Given the description of an element on the screen output the (x, y) to click on. 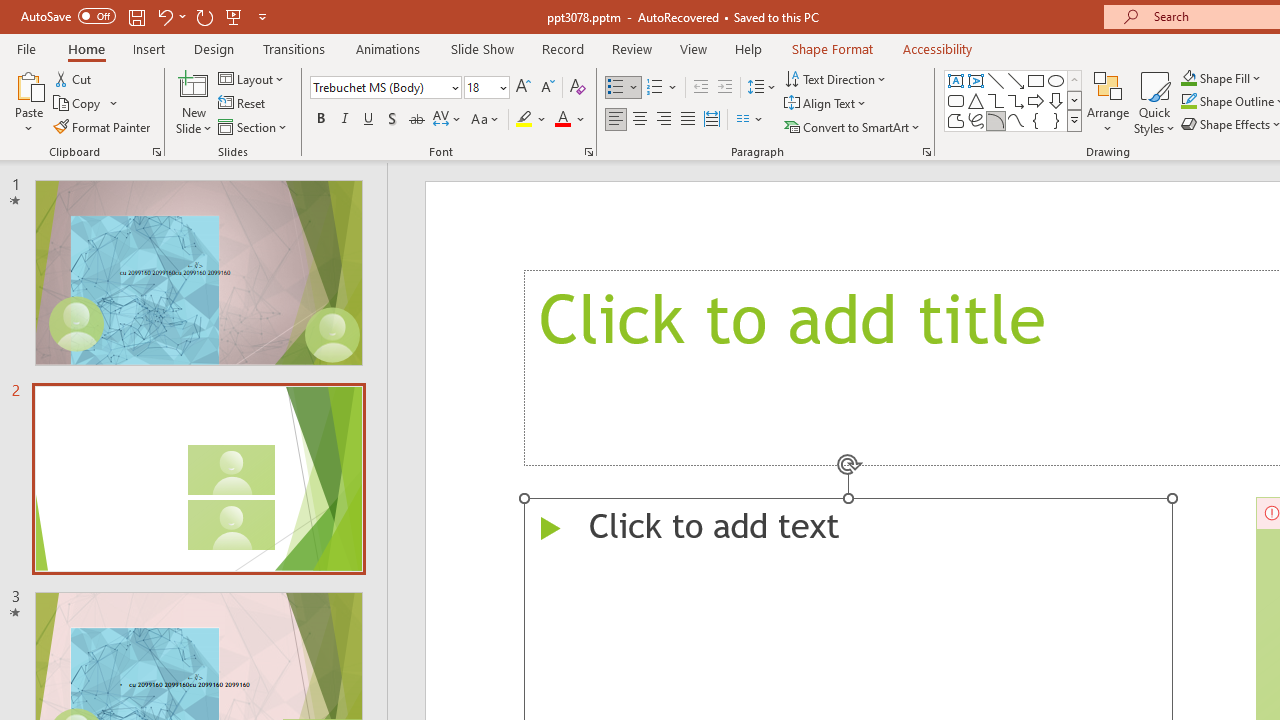
Shape Outline Green, Accent 1 (1188, 101)
